Given the description of an element on the screen output the (x, y) to click on. 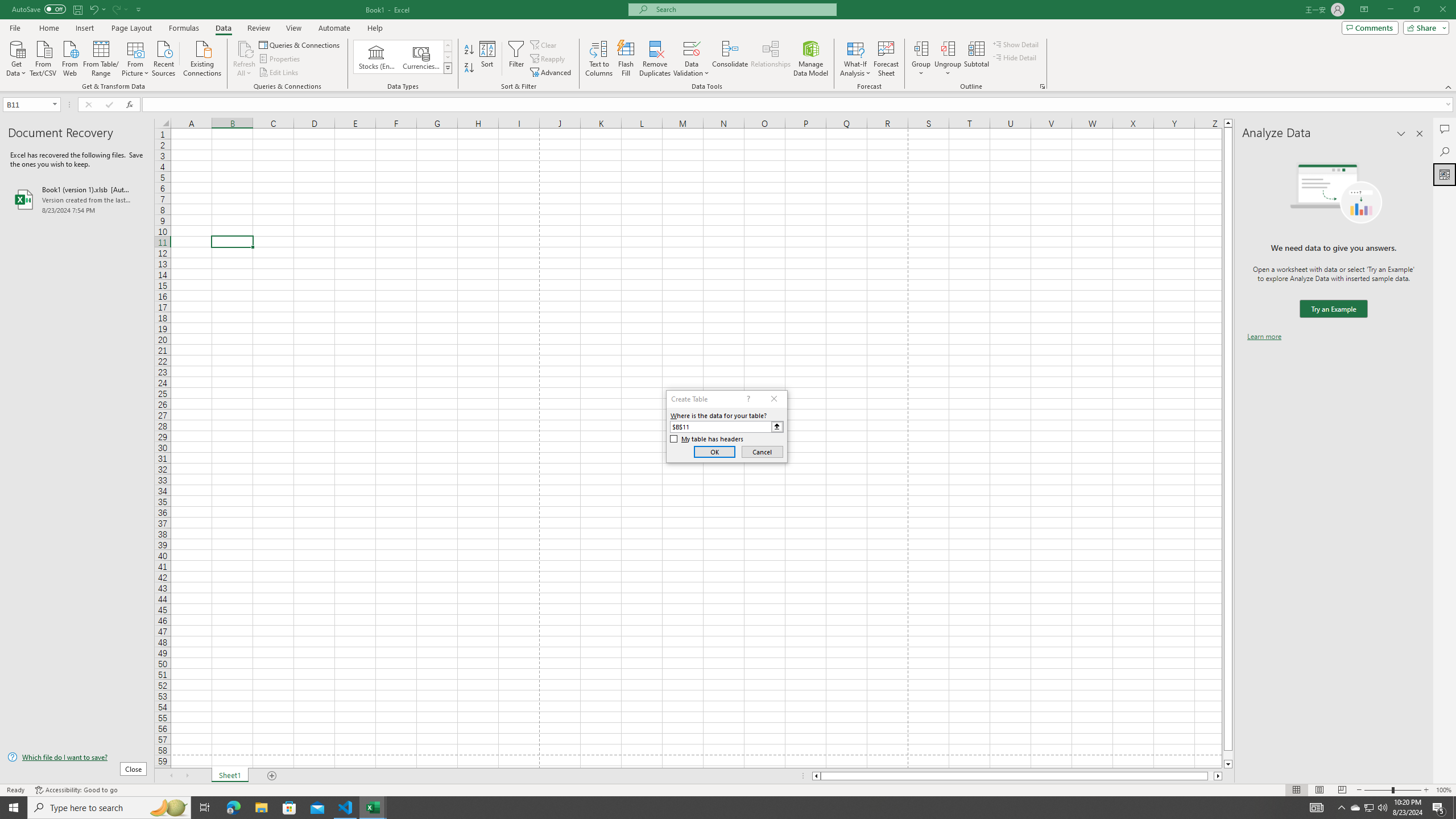
Queries & Connections (300, 44)
Show Detail (1016, 44)
From Text/CSV (43, 57)
Remove Duplicates (654, 58)
Filter (515, 58)
Hide Detail (1014, 56)
AutomationID: ConvertToLinkedEntity (403, 56)
